Given the description of an element on the screen output the (x, y) to click on. 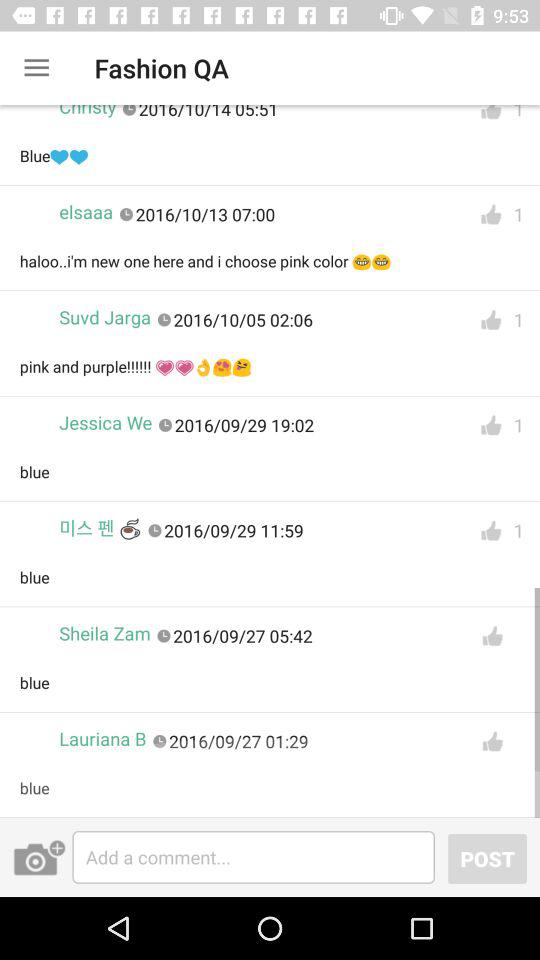
give a thumbs up (492, 741)
